Given the description of an element on the screen output the (x, y) to click on. 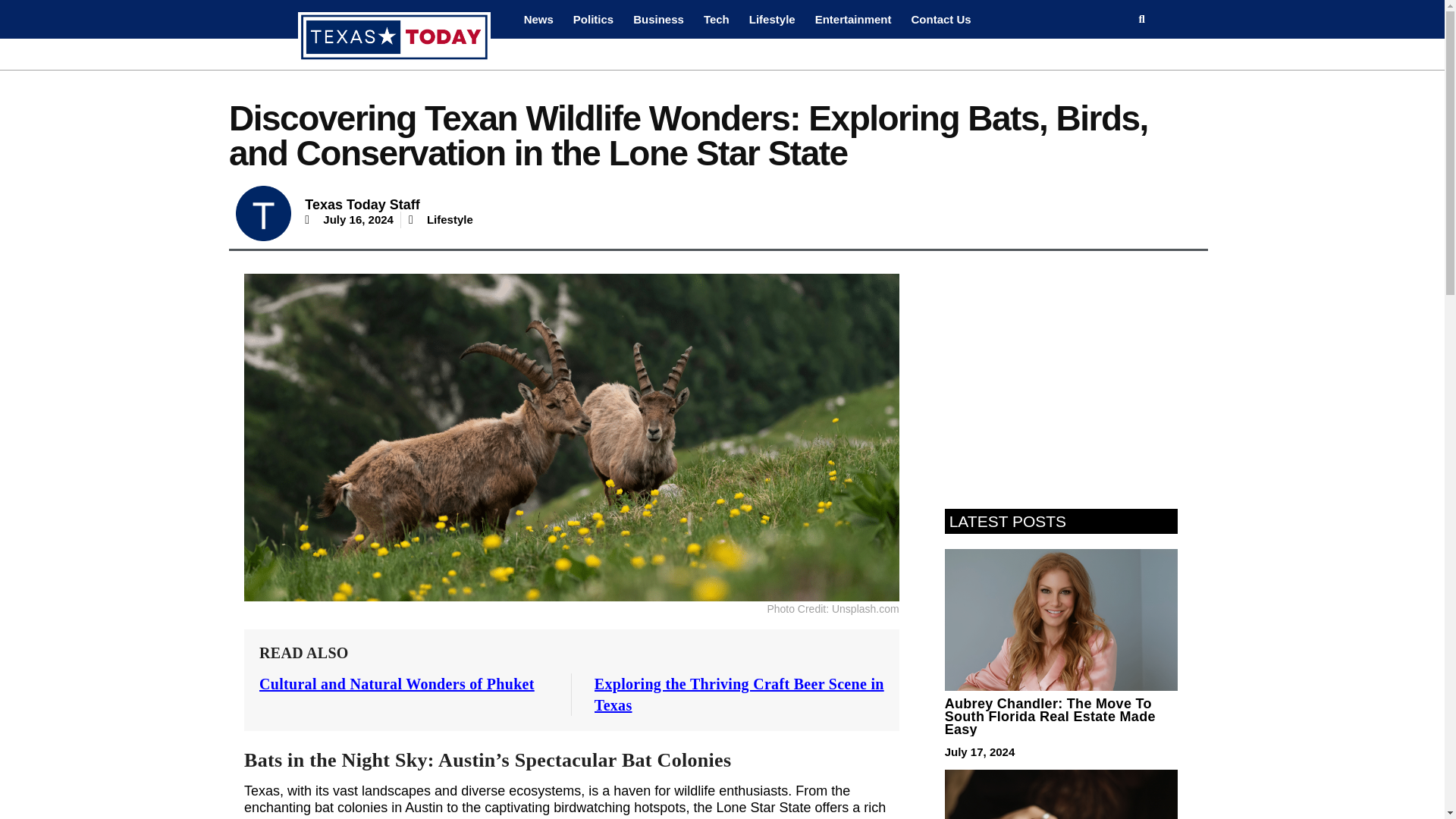
Advertisement (1061, 372)
Search (1136, 18)
Lifestyle (772, 18)
Exploring the Thriving Craft Beer Scene in Texas (738, 694)
Business (657, 18)
Politics (593, 18)
Texas Today Staff (361, 204)
Tech (716, 18)
Contact Us (940, 18)
News (538, 18)
Lifestyle (449, 219)
July 16, 2024 (348, 219)
Entertainment (852, 18)
